Given the description of an element on the screen output the (x, y) to click on. 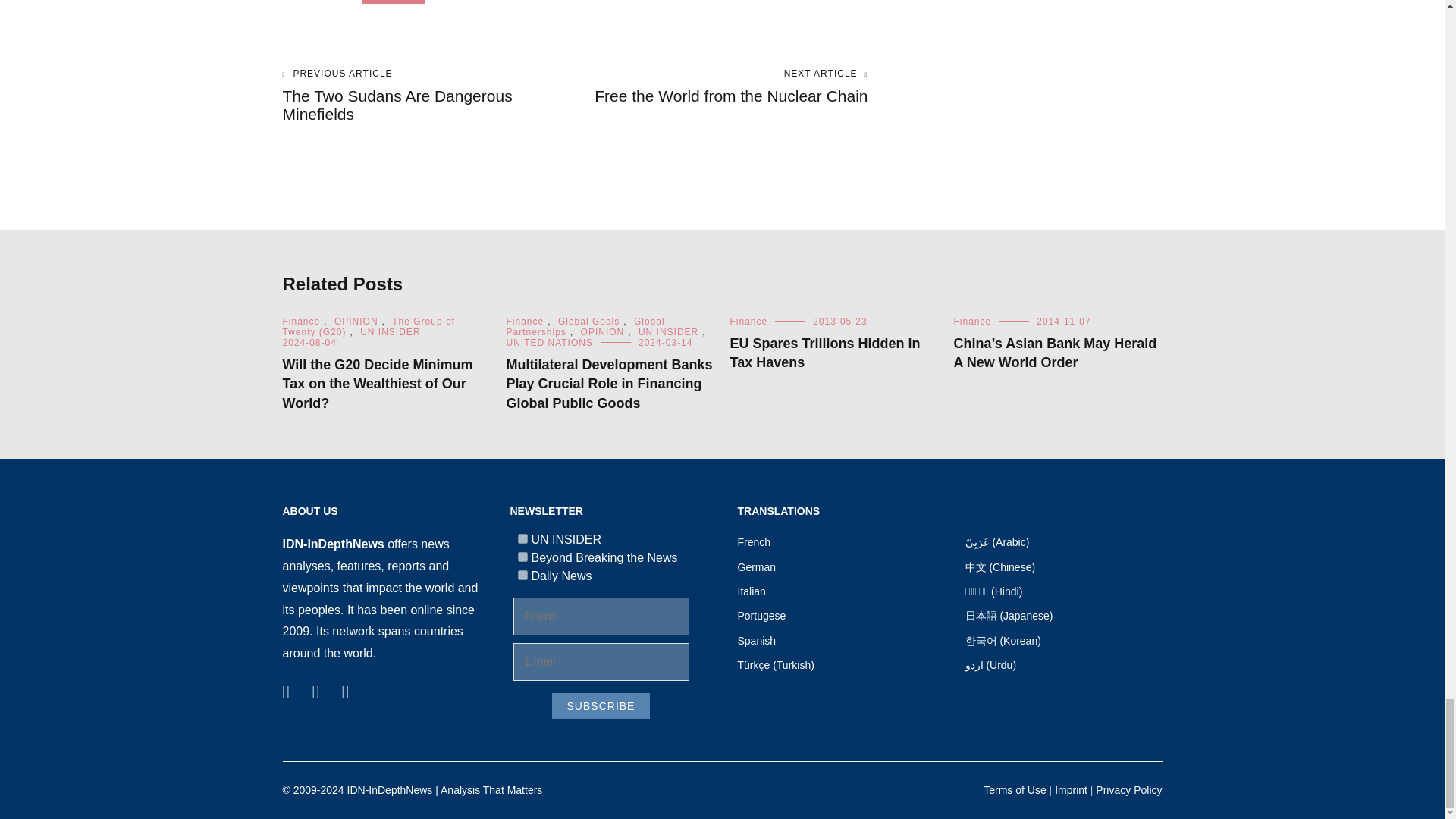
9 (521, 556)
7 (521, 538)
10 (521, 574)
